Given the description of an element on the screen output the (x, y) to click on. 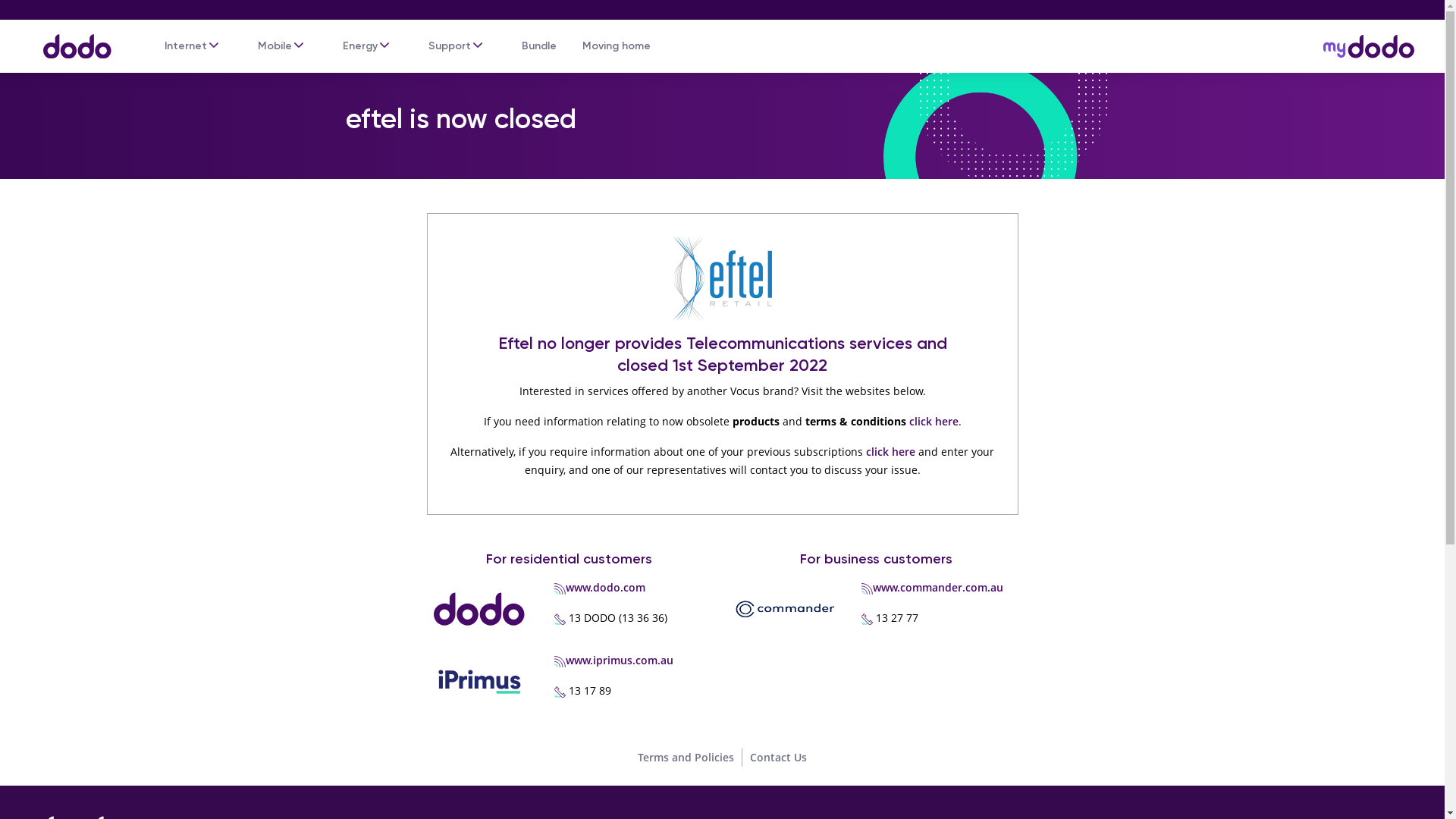
Skip to main content Element type: text (721, 1)
Energy Element type: text (359, 45)
Support Element type: text (449, 45)
click here Element type: text (932, 421)
Terms and Policies Element type: text (685, 756)
www.iprimus.com.au Element type: text (619, 659)
Contact Us Element type: text (777, 756)
Internet Element type: text (185, 45)
Mobile Element type: text (274, 45)
Bundle Element type: text (538, 45)
www.dodo.com Element type: text (605, 587)
Moving home Element type: text (616, 45)
Home Element type: hover (69, 38)
click here Element type: text (890, 451)
www.commander.com.au Element type: text (937, 587)
